Given the description of an element on the screen output the (x, y) to click on. 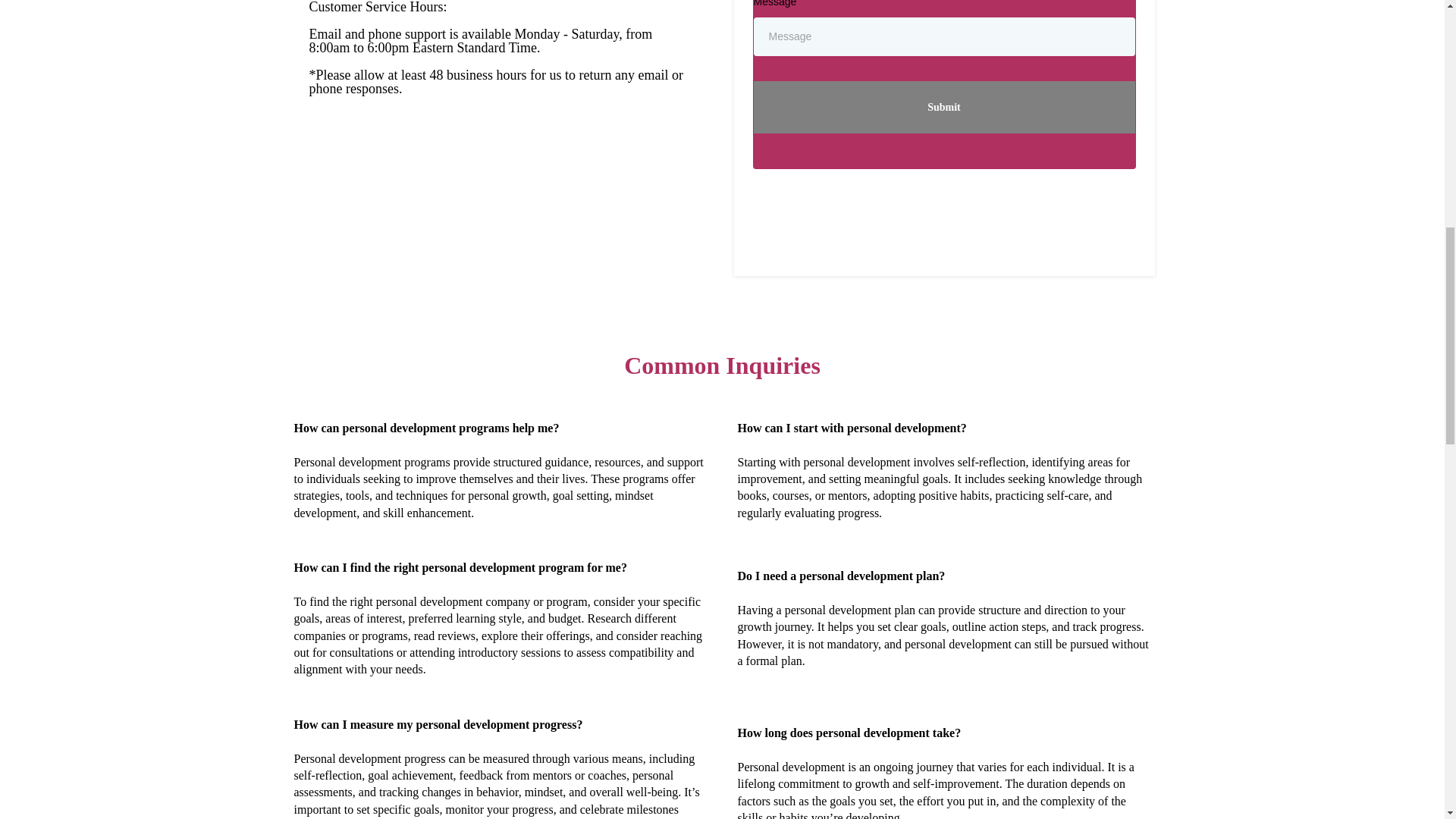
Submit (944, 107)
